Given the description of an element on the screen output the (x, y) to click on. 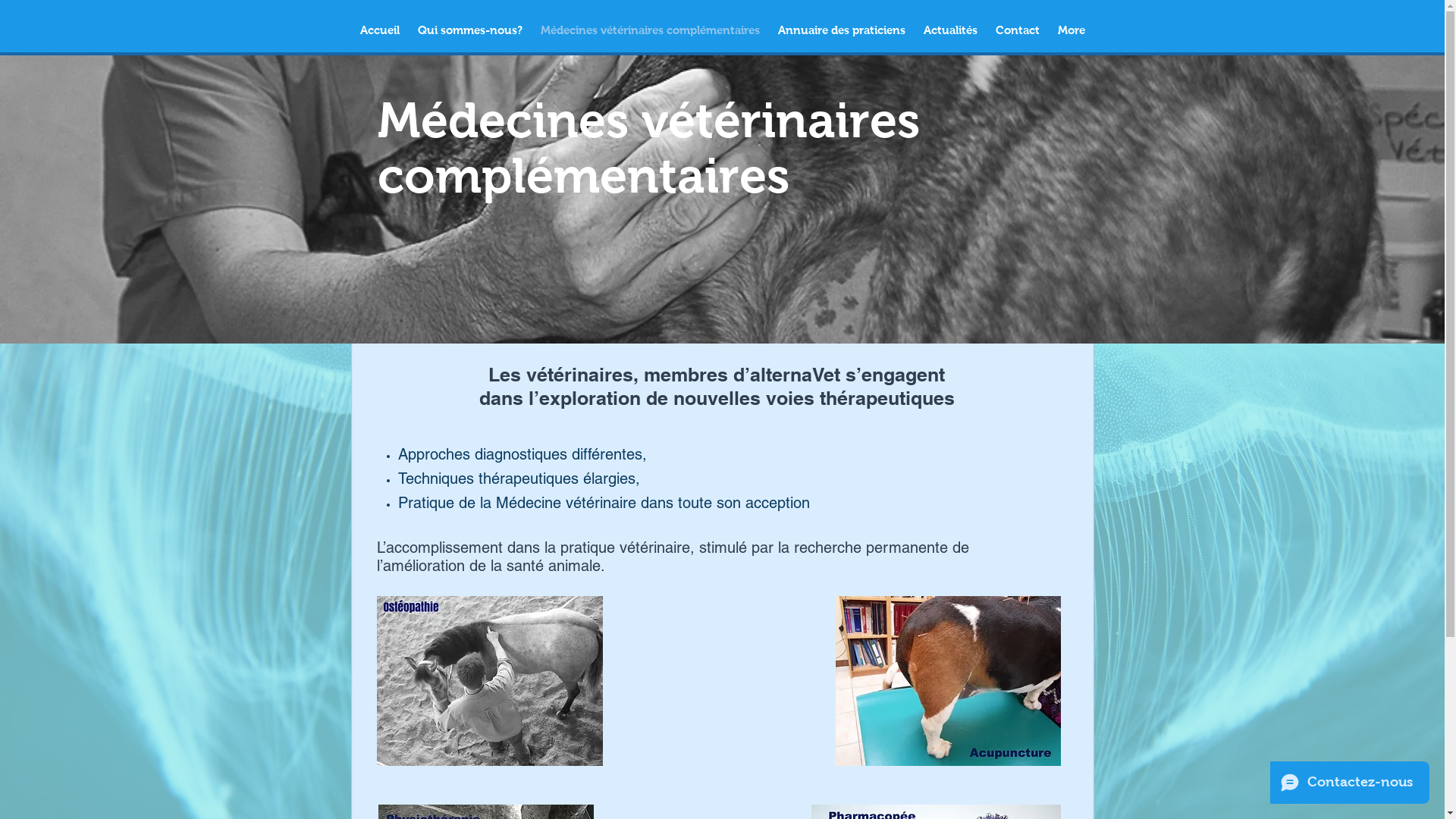
Accueil Element type: text (378, 30)
Annuaire des praticiens Element type: text (841, 30)
7.2.2. Cv-C.JPG Element type: hover (489, 680)
35609_405599380841_2447916_n.jpg Element type: hover (947, 680)
Qui sommes-nous? Element type: text (468, 30)
Contact Element type: text (1016, 30)
